Given the description of an element on the screen output the (x, y) to click on. 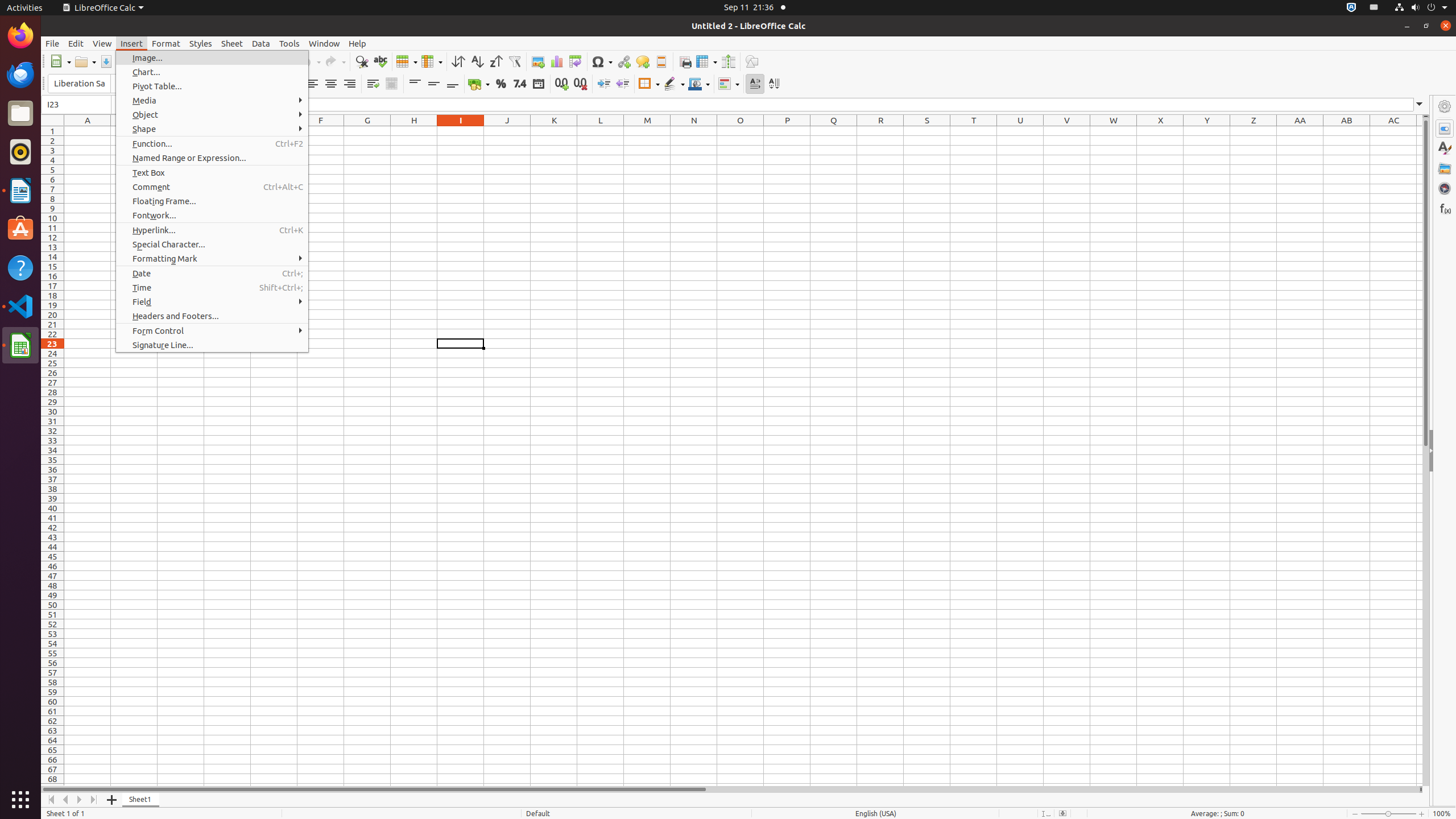
Row Element type: push-button (406, 61)
Navigator Element type: radio-button (1444, 188)
Headers and Footers... Element type: menu-item (212, 315)
Headers and Footers Element type: push-button (660, 61)
Border Style Element type: push-button (673, 83)
